Given the description of an element on the screen output the (x, y) to click on. 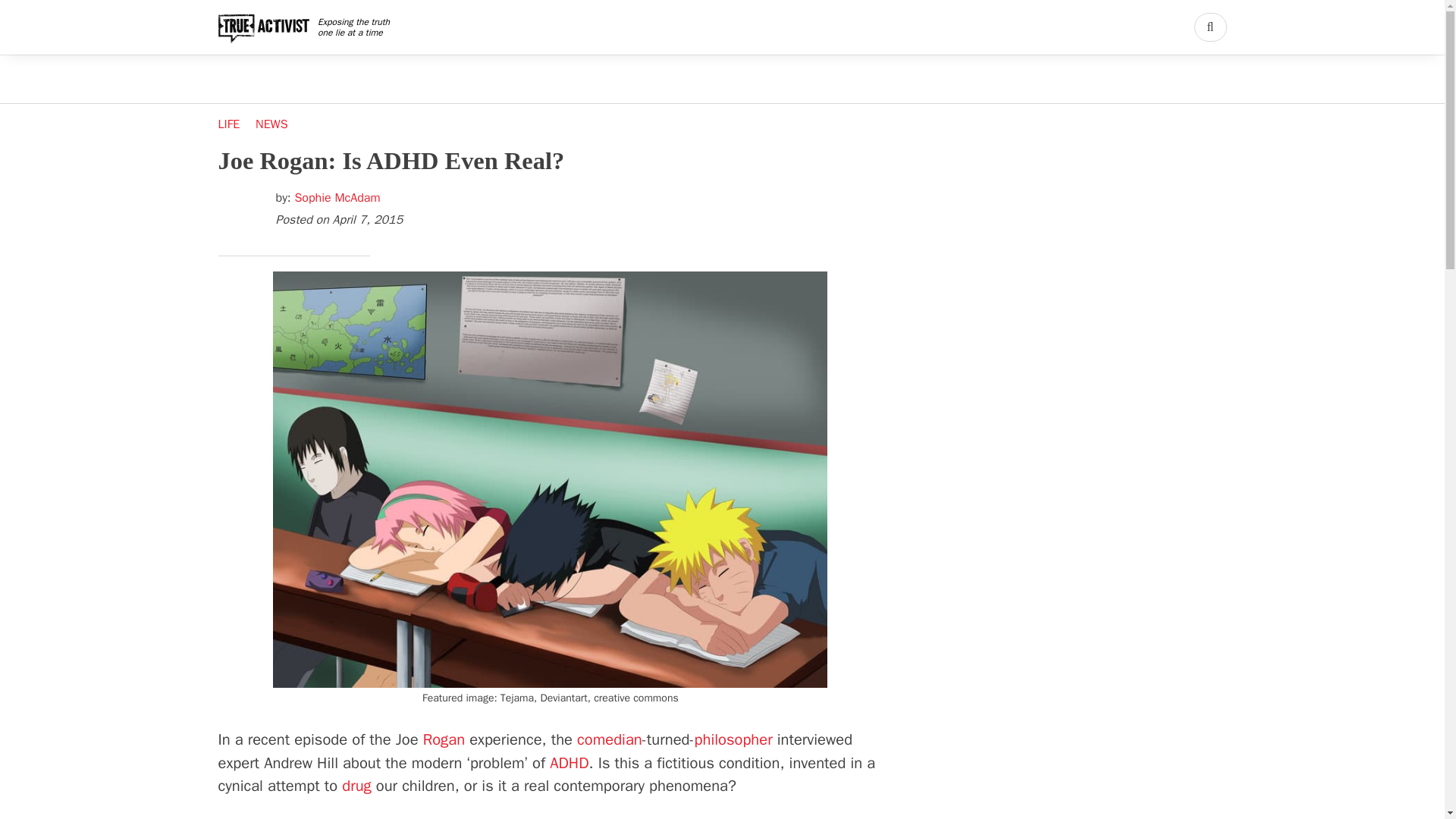
How ADHD Is Linked To A Failing Education System (569, 763)
